Given the description of an element on the screen output the (x, y) to click on. 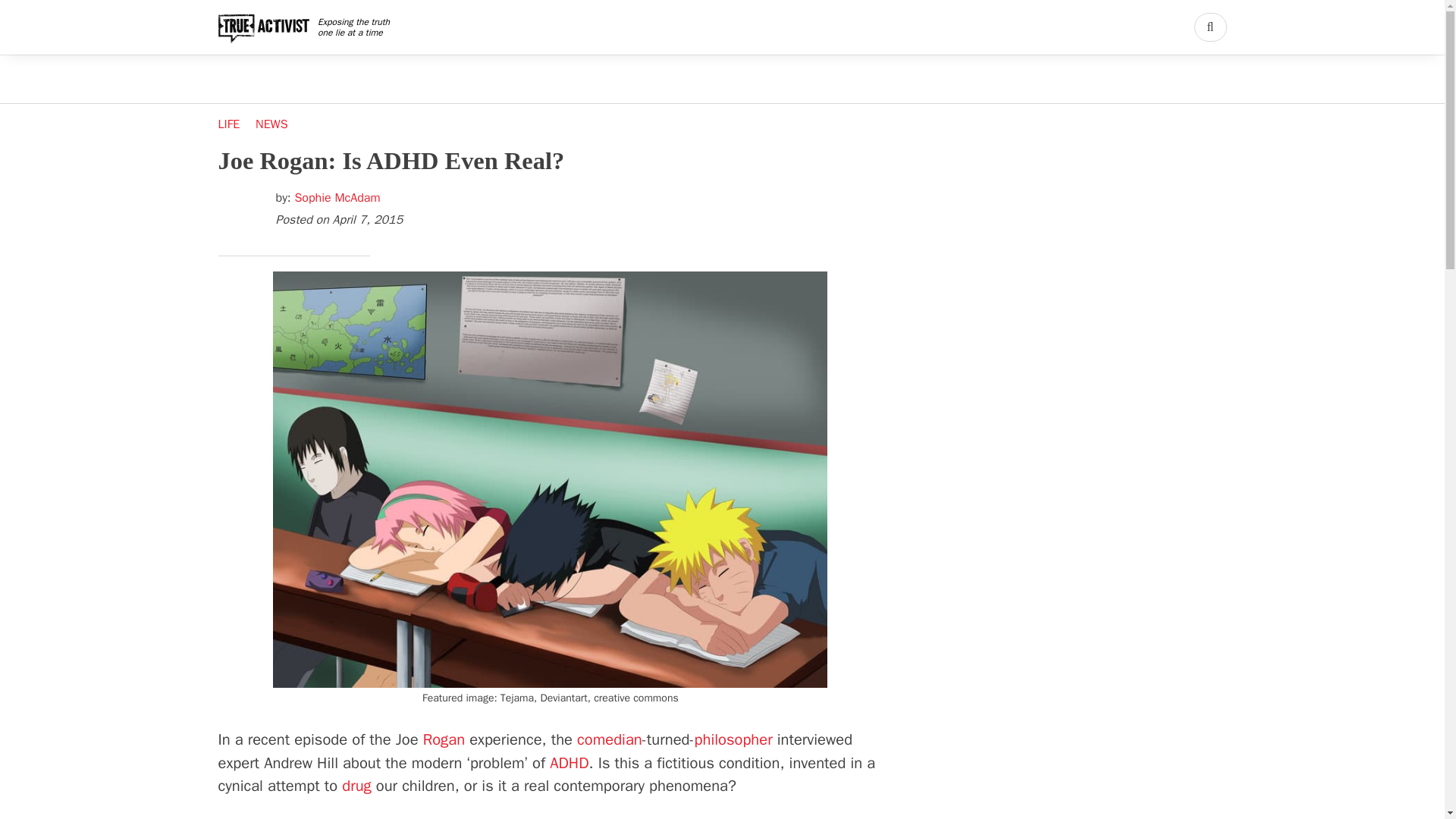
How ADHD Is Linked To A Failing Education System (569, 763)
